Given the description of an element on the screen output the (x, y) to click on. 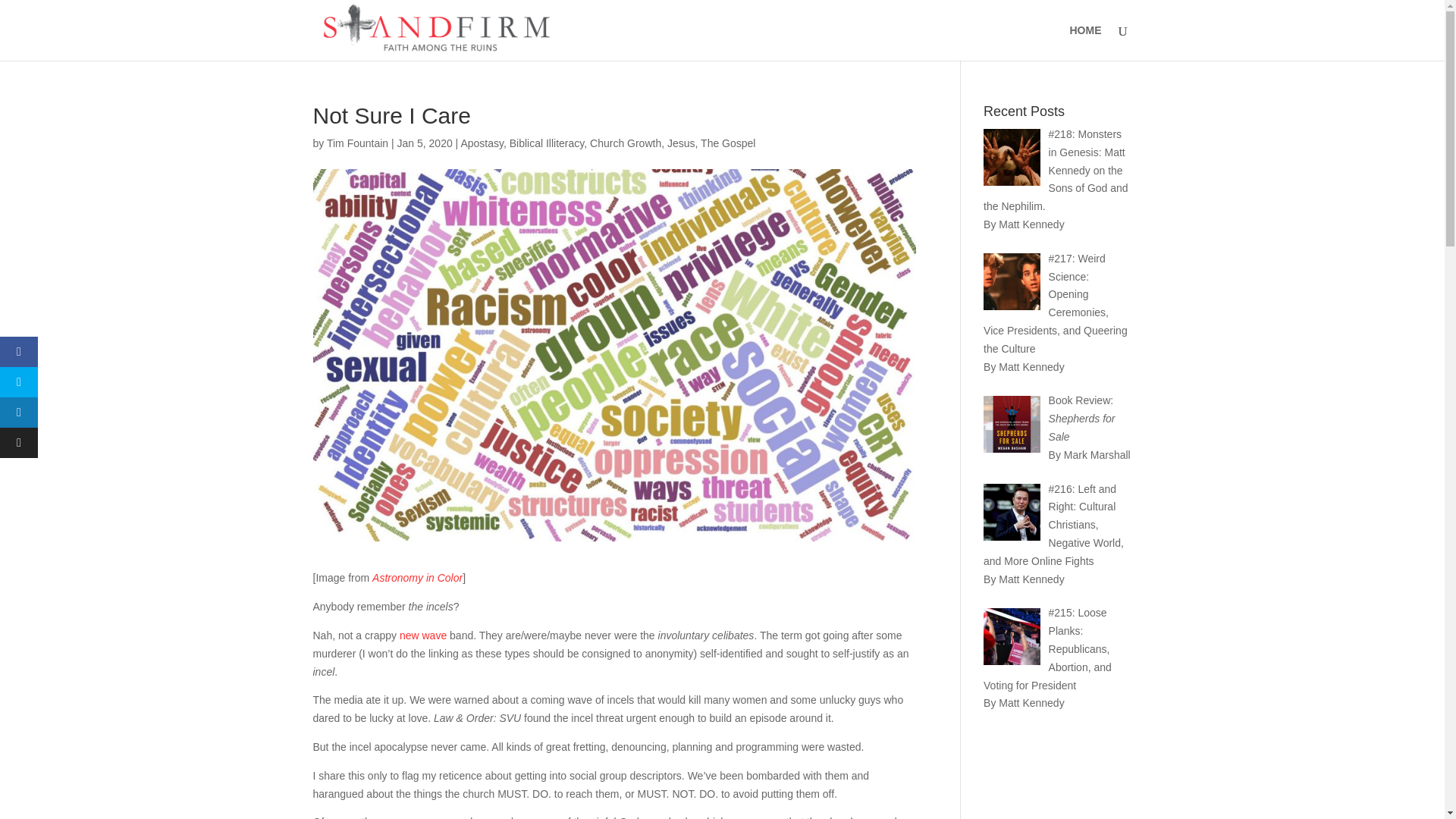
Jesus (680, 143)
Astronomy in Color (417, 577)
Apostasy (481, 143)
The Gospel (727, 143)
new wave (422, 635)
Church Growth (625, 143)
Book Review: Shepherds for Sale (1081, 418)
Biblical Illiteracy (547, 143)
Posts by Tim Fountain (357, 143)
Tim Fountain (357, 143)
